Given the description of an element on the screen output the (x, y) to click on. 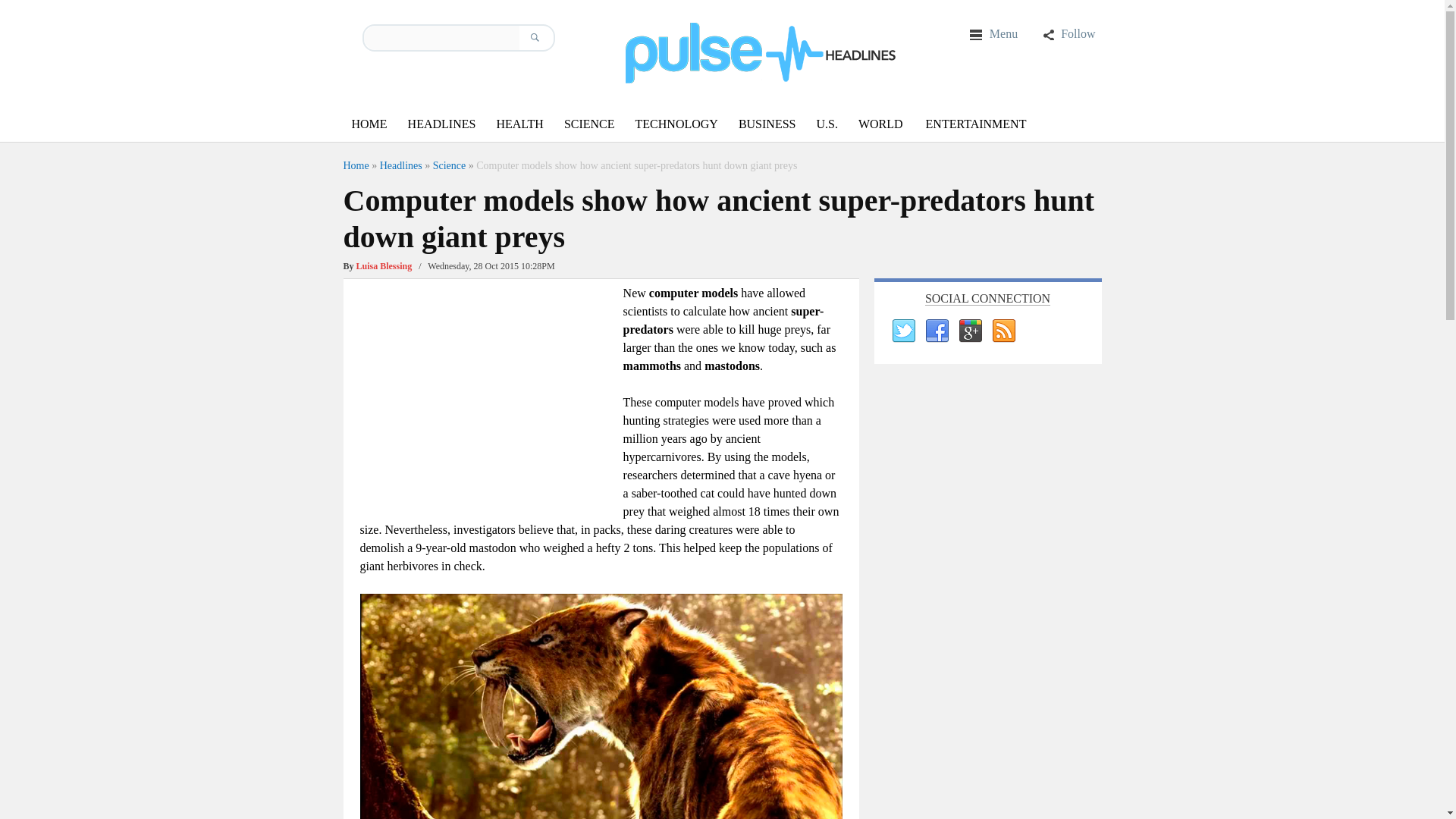
SCIENCE (589, 123)
ENTERTAINMENT (975, 123)
BUSINESS (767, 123)
 View all posts by Luisa Blessing (384, 266)
Advertisement (486, 390)
Facebook (935, 331)
Twitter (901, 331)
U.S. (826, 123)
Headlines (401, 165)
RSS (1002, 331)
HEADLINES (441, 123)
TECHNOLOGY (676, 123)
Menu (993, 33)
Follow (1068, 33)
HOME (368, 123)
